Given the description of an element on the screen output the (x, y) to click on. 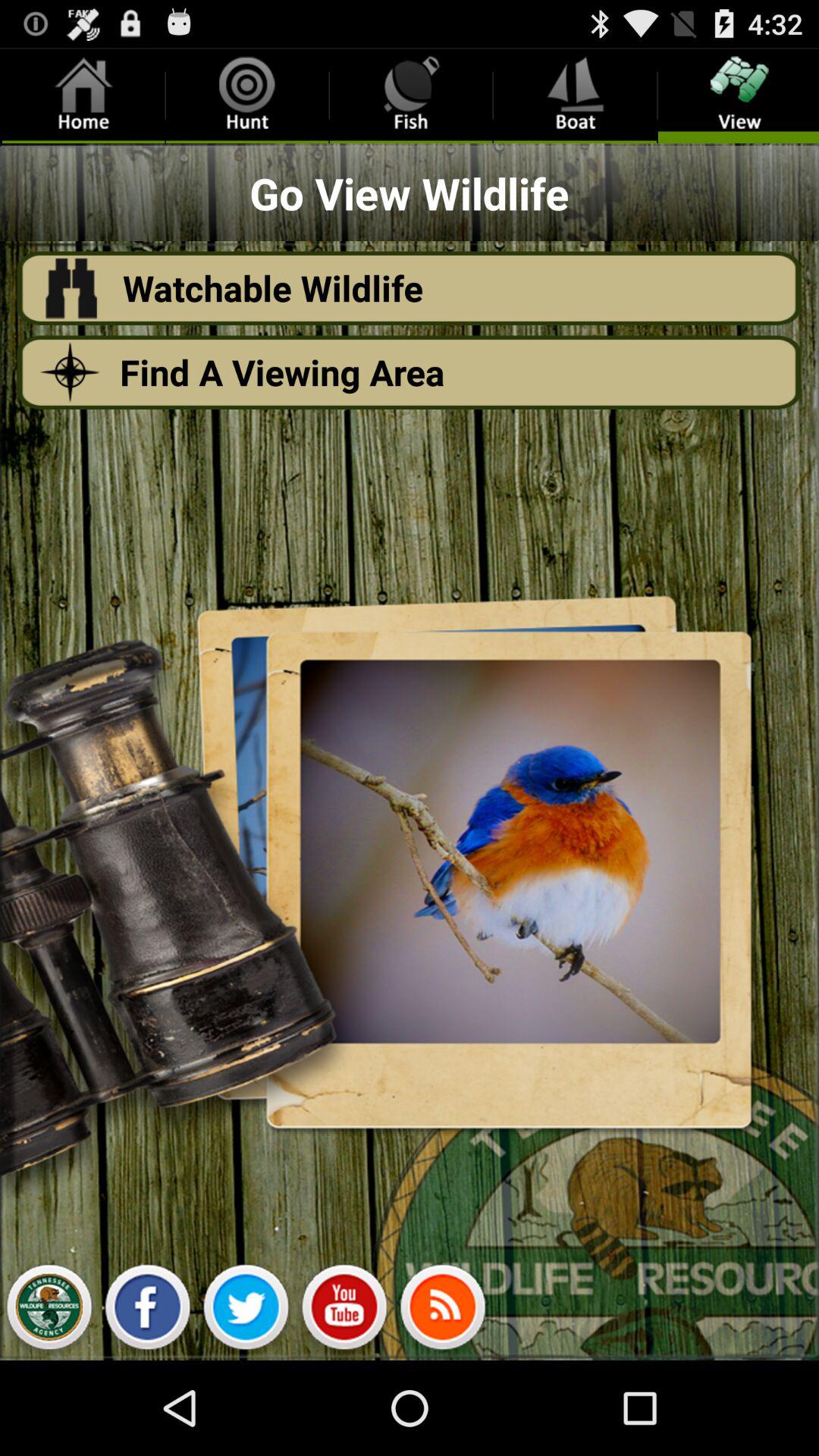
wifi (442, 1311)
